Given the description of an element on the screen output the (x, y) to click on. 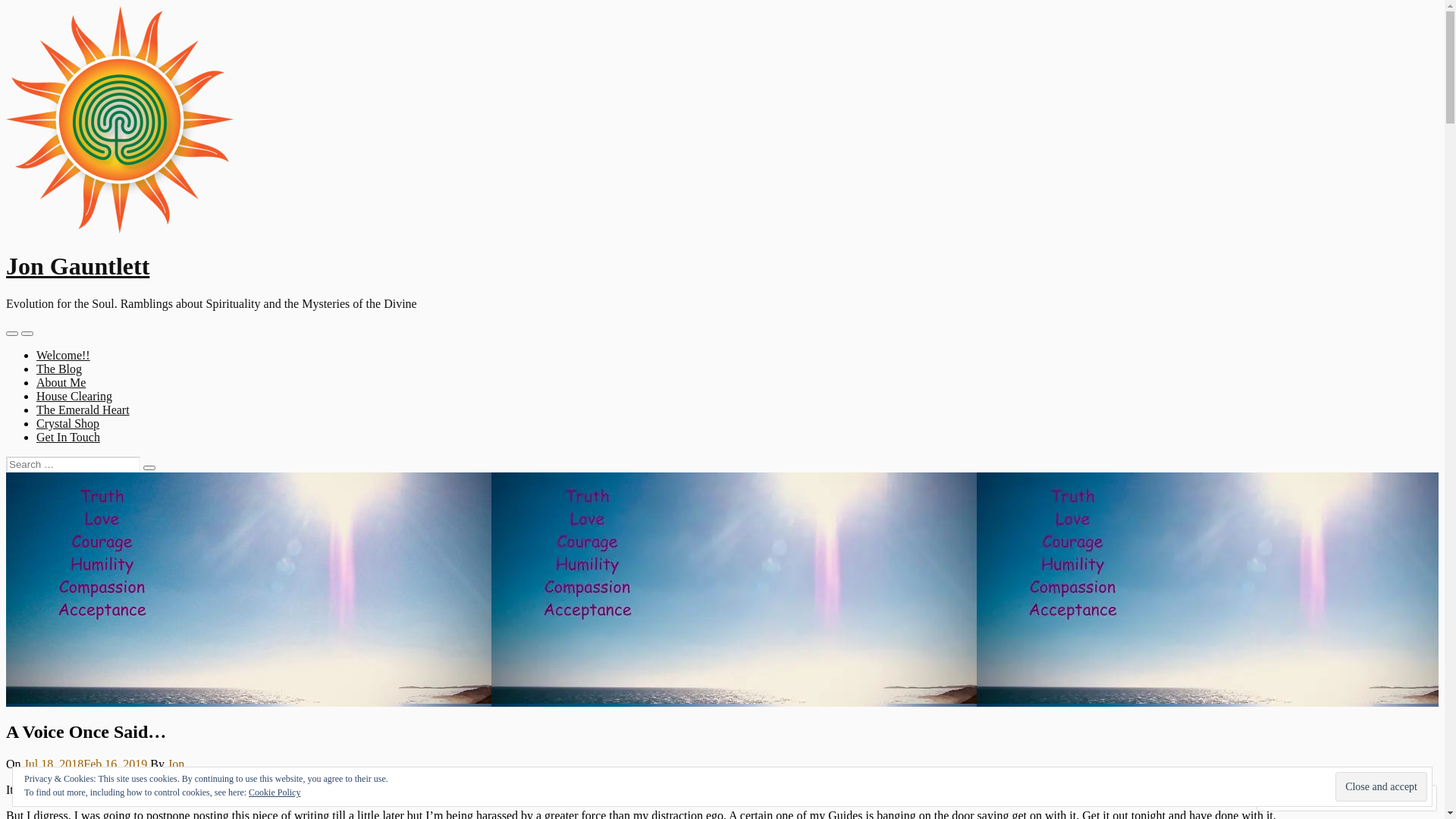
The Blog Element type: text (58, 368)
Skip to content Element type: text (5, 5)
Follow Element type: text (1373, 797)
Jon Element type: text (175, 763)
Search for: Element type: hover (73, 464)
Jon Gauntlett Element type: text (77, 265)
About Me Element type: text (60, 382)
Search Element type: text (27, 333)
House Clearing Element type: text (74, 395)
Welcome!! Element type: text (63, 354)
Crystal Shop Element type: text (67, 423)
Search Element type: text (149, 467)
Comment Element type: text (1297, 797)
Get In Touch Element type: text (68, 436)
Jul 18, 2018Feb 16, 2019 Element type: text (85, 763)
The Emerald Heart Element type: text (82, 409)
Cookie Policy Element type: text (274, 792)
Menu Element type: text (12, 333)
Close and accept Element type: text (1381, 786)
